Given the description of an element on the screen output the (x, y) to click on. 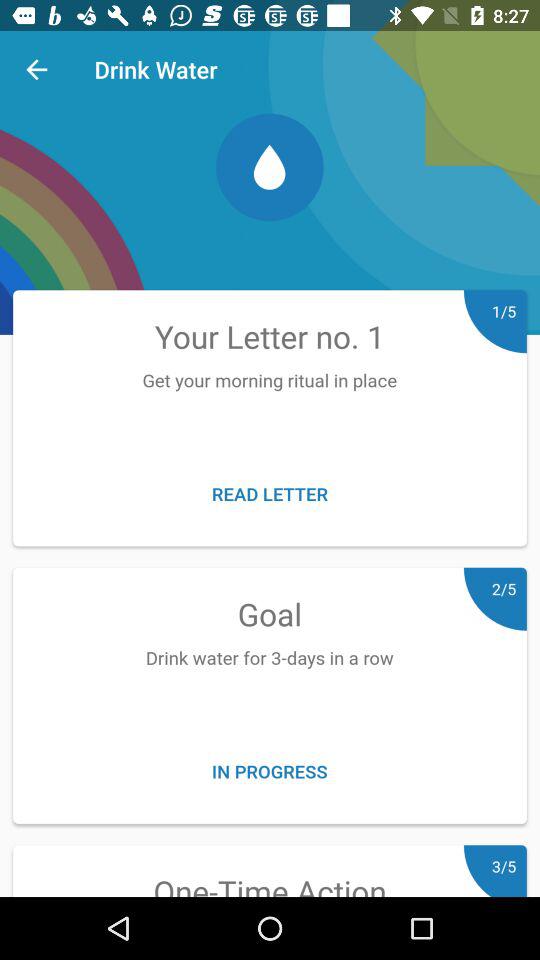
select the item next to drink water item (36, 69)
